Given the description of an element on the screen output the (x, y) to click on. 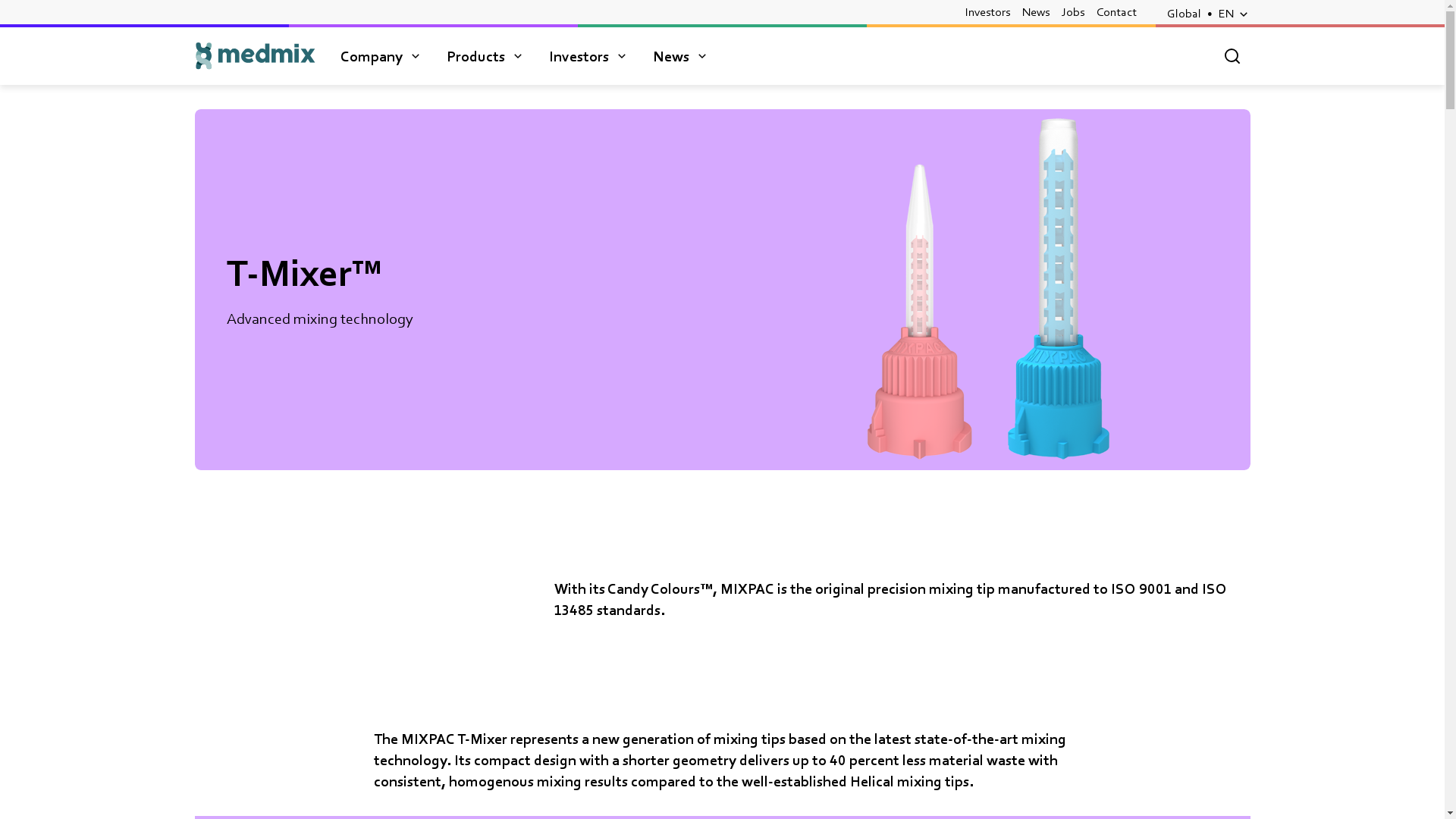
Products (484, 56)
Contact (1116, 12)
Investors (986, 12)
Company (380, 56)
News (1035, 12)
Jobs (1072, 12)
Logo title (254, 55)
